Given the description of an element on the screen output the (x, y) to click on. 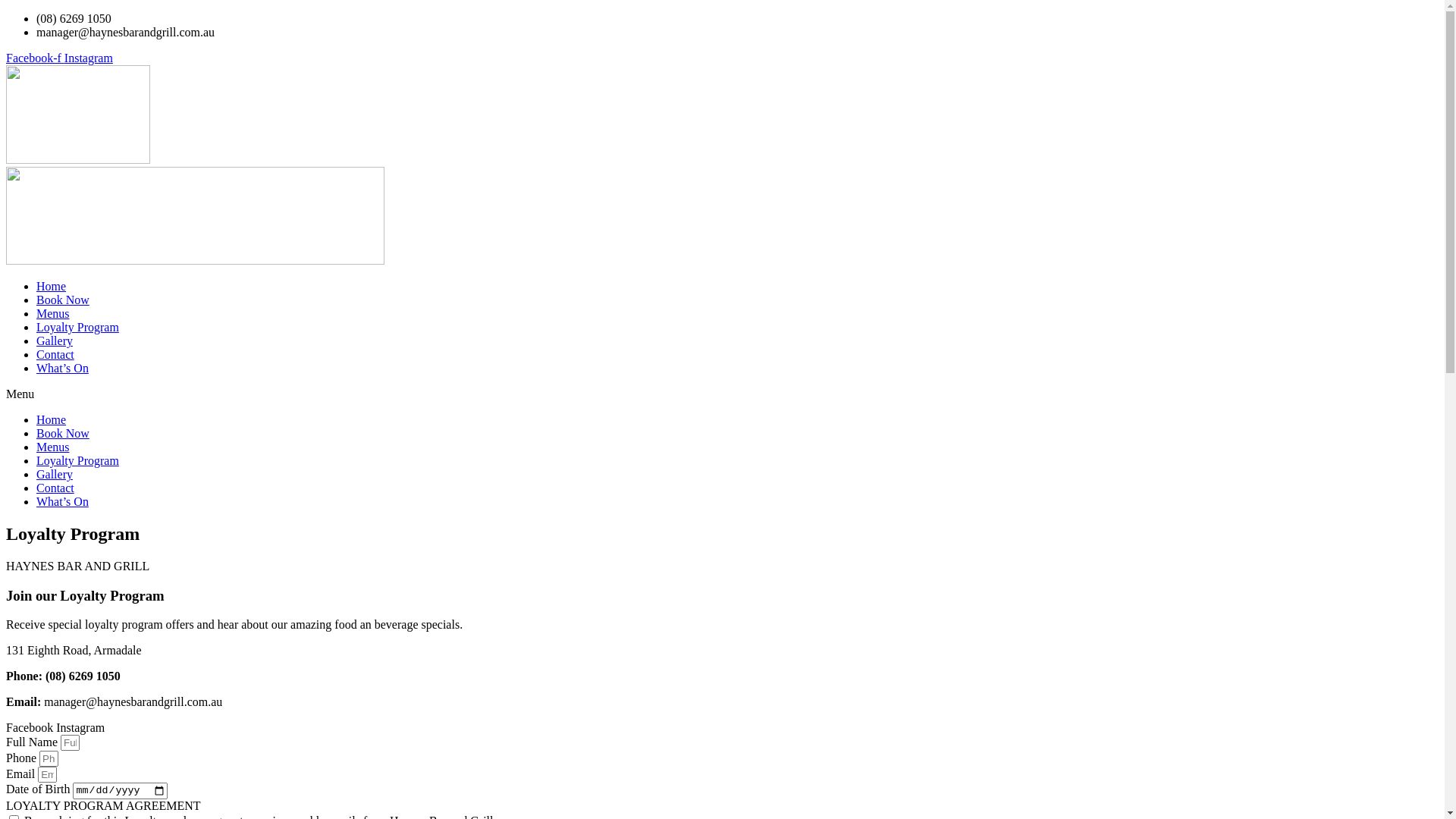
Home Element type: text (50, 419)
Contact Element type: text (55, 487)
Home Element type: text (50, 285)
Loyalty Program Element type: text (77, 460)
Contact Element type: text (55, 354)
Gallery Element type: text (54, 340)
Book Now Element type: text (62, 299)
Instagram Element type: text (80, 727)
Instagram Element type: text (88, 57)
Menus Element type: text (52, 313)
Book Now Element type: text (62, 432)
Facebook-f Element type: text (35, 57)
Facebook Element type: text (31, 727)
Gallery Element type: text (54, 473)
Menus Element type: text (52, 446)
Loyalty Program Element type: text (77, 326)
